Given the description of an element on the screen output the (x, y) to click on. 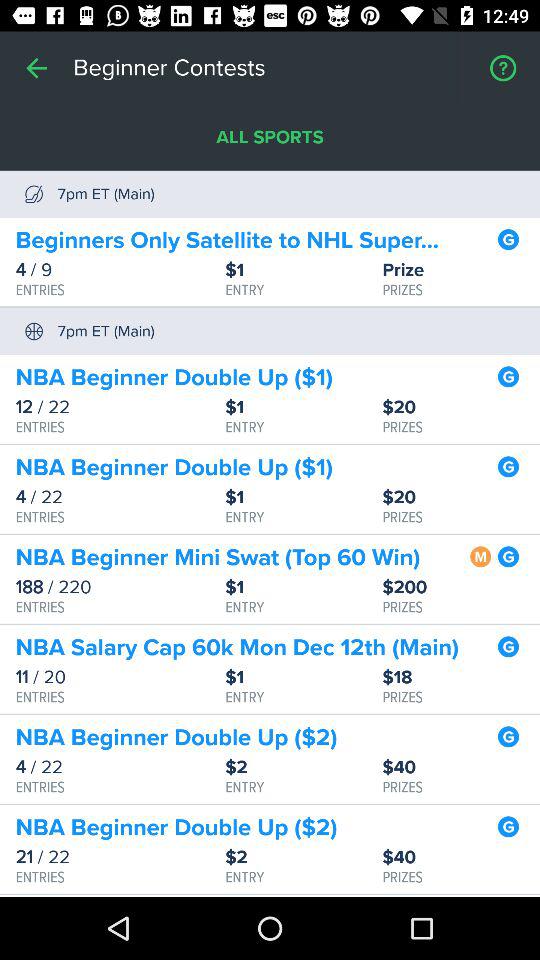
open item above beginners only satellite item (269, 137)
